Given the description of an element on the screen output the (x, y) to click on. 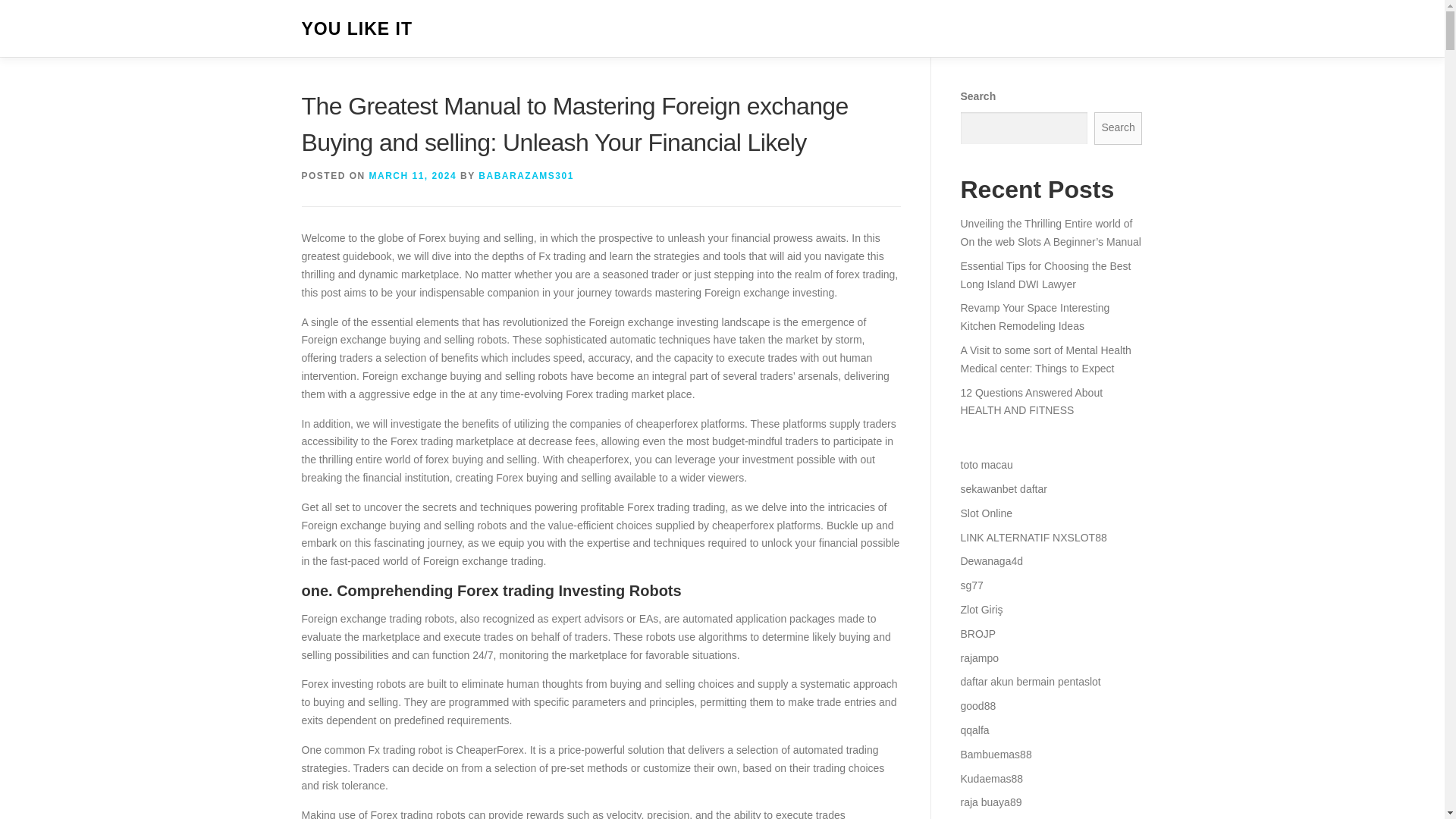
raja buaya89 (990, 802)
Revamp Your Space Interesting Kitchen Remodeling Ideas (1034, 317)
BROJP (977, 633)
sg77 (970, 585)
Slot Online (985, 512)
daftar akun bermain pentaslot (1029, 681)
Kudaemas88 (991, 778)
Essential Tips for Choosing the Best Long Island DWI Lawyer (1045, 275)
BABARAZAMS301 (526, 175)
toto macau (985, 464)
YOU LIKE IT (356, 29)
LINK ALTERNATIF NXSLOT88 (1032, 537)
Bambuemas88 (994, 754)
12 Questions Answered About HEALTH AND FITNESS (1030, 401)
